Given the description of an element on the screen output the (x, y) to click on. 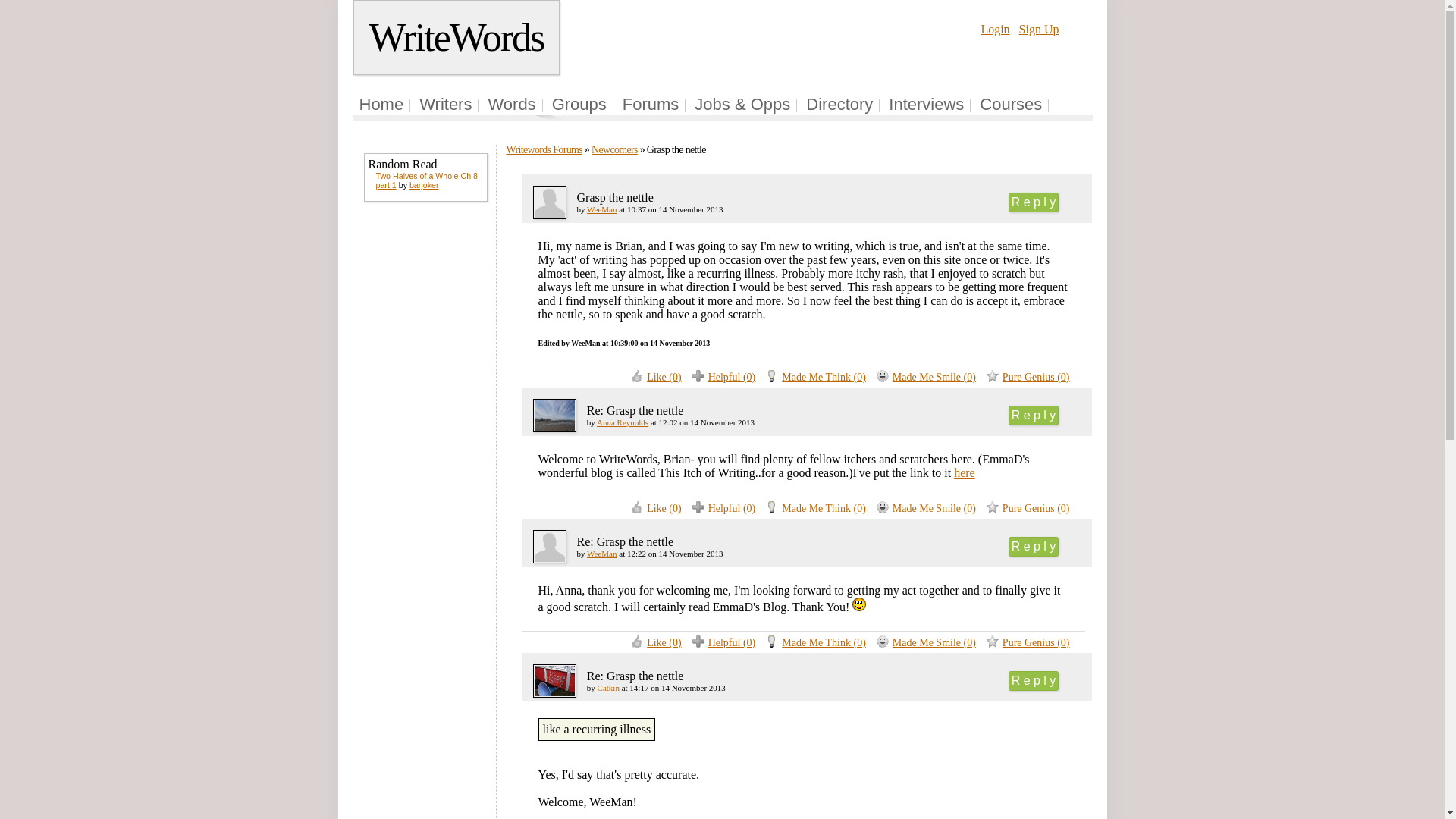
WriteWords (456, 37)
Sign Up (1039, 29)
Two Halves of a Whole Ch 8 part 1 (426, 180)
R e p l y (1034, 680)
R e p l y (1034, 415)
Anna Reynolds (621, 421)
WeeMan (600, 552)
Forums (651, 104)
here (964, 472)
Courses (1010, 104)
Home (381, 104)
Writewords Forums (544, 149)
Newcomers (614, 149)
WeeMan (600, 208)
Catkin (608, 687)
